Given the description of an element on the screen output the (x, y) to click on. 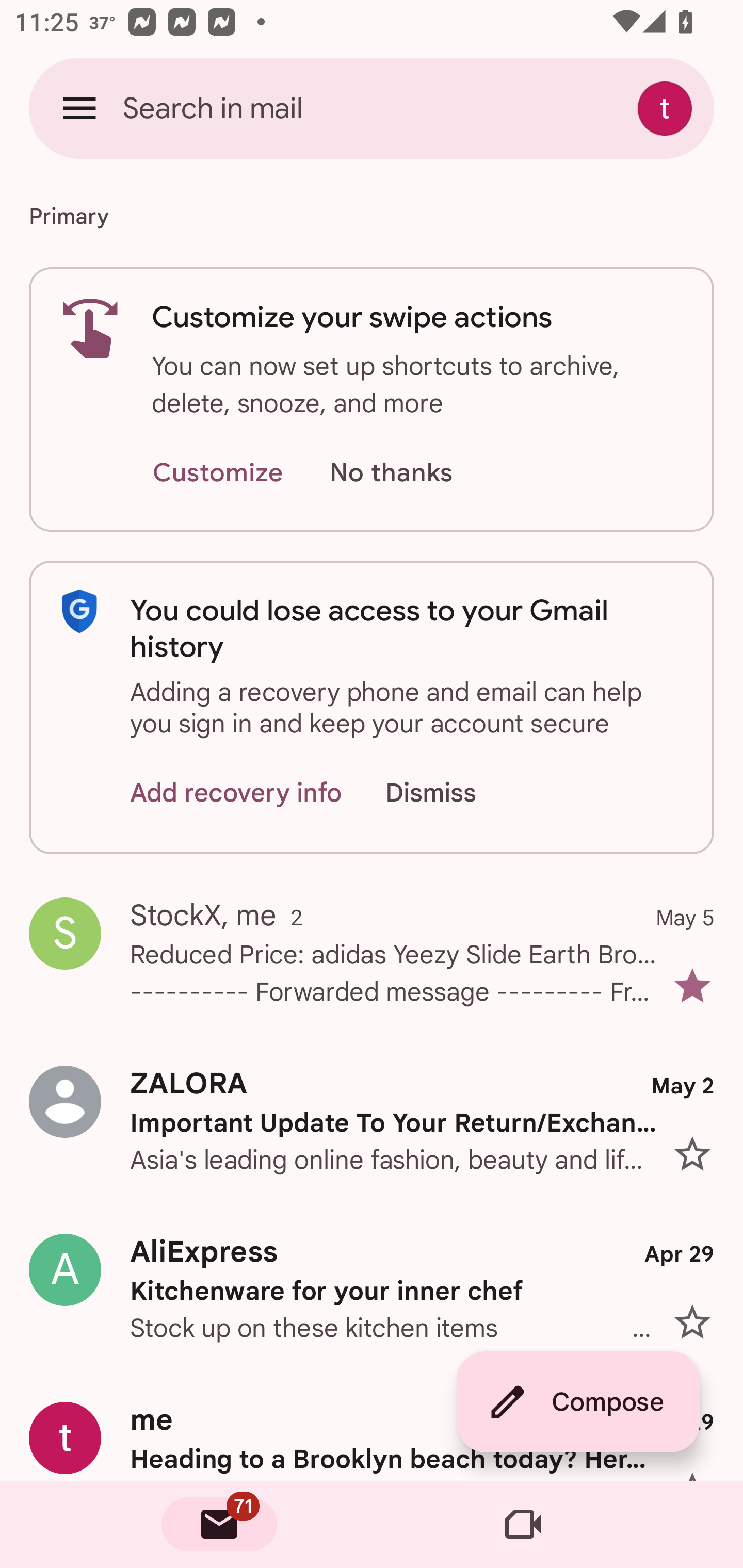
Open navigation drawer (79, 108)
Customize (217, 473)
No thanks (390, 473)
Add recovery info (235, 792)
Dismiss (449, 792)
Compose (577, 1401)
Meet (523, 1524)
